Given the description of an element on the screen output the (x, y) to click on. 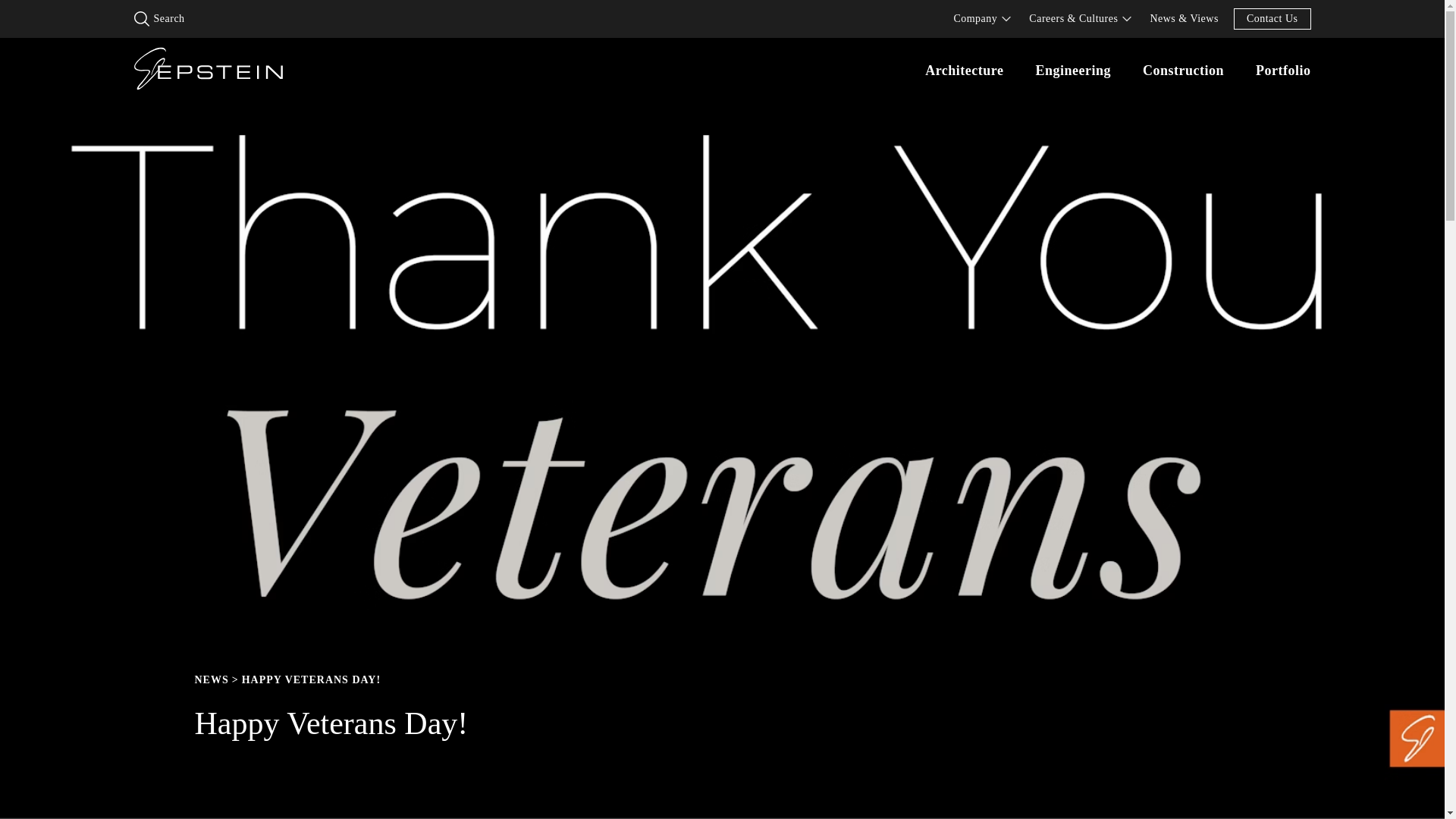
NEWS (210, 680)
Architecture (963, 70)
Engineering (1072, 70)
Contact Us (1272, 18)
Portfolio (1282, 70)
Construction (1183, 70)
